Given the description of an element on the screen output the (x, y) to click on. 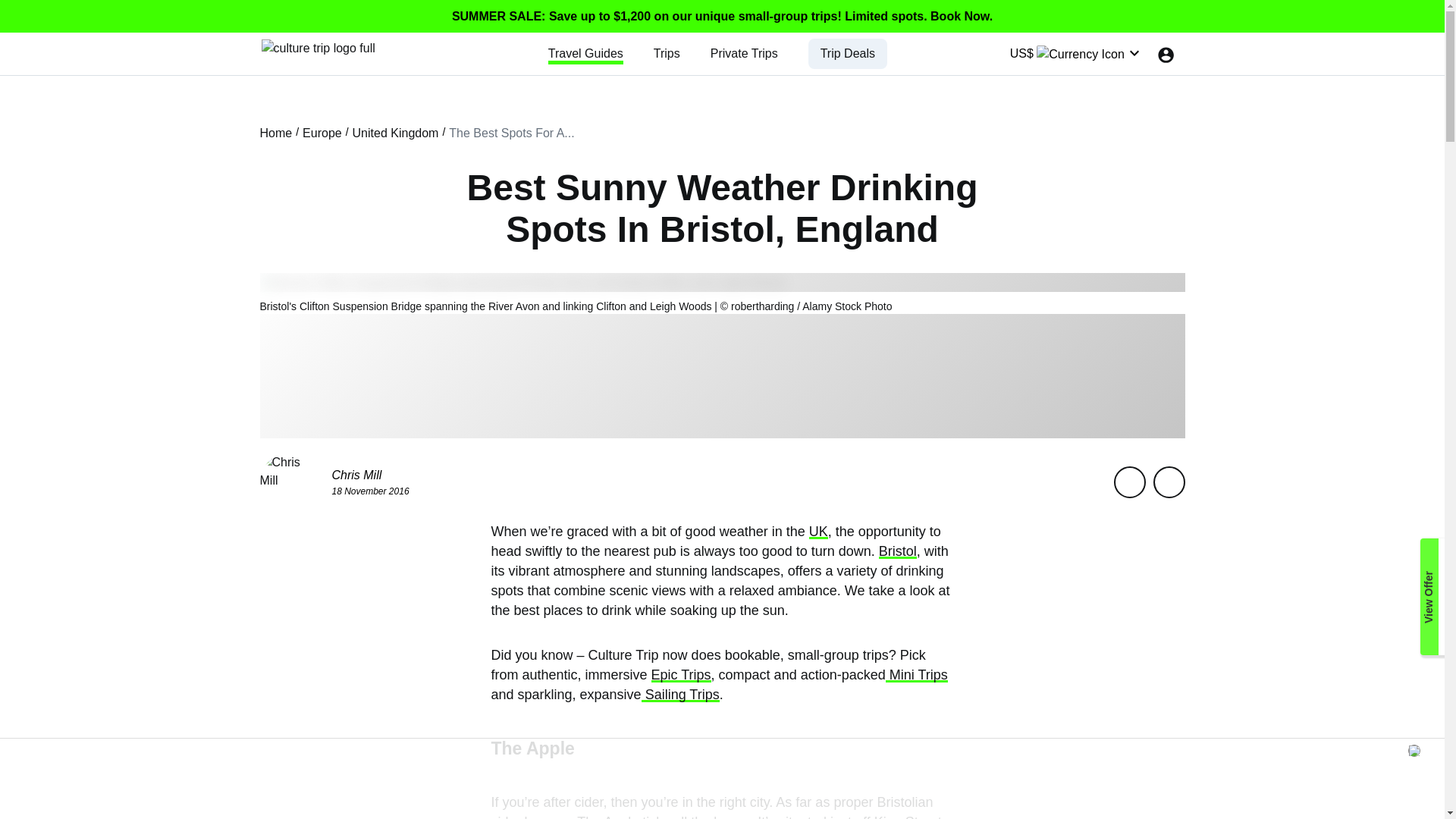
Europe (322, 133)
United Kingdom (395, 133)
Trip Deals (848, 53)
Sailing Trips (680, 694)
Private Trips (743, 53)
Travel Guides (585, 53)
The Culture Trip (317, 47)
Mini Trips (916, 674)
Travel Guides (585, 53)
UK (818, 531)
